Given the description of an element on the screen output the (x, y) to click on. 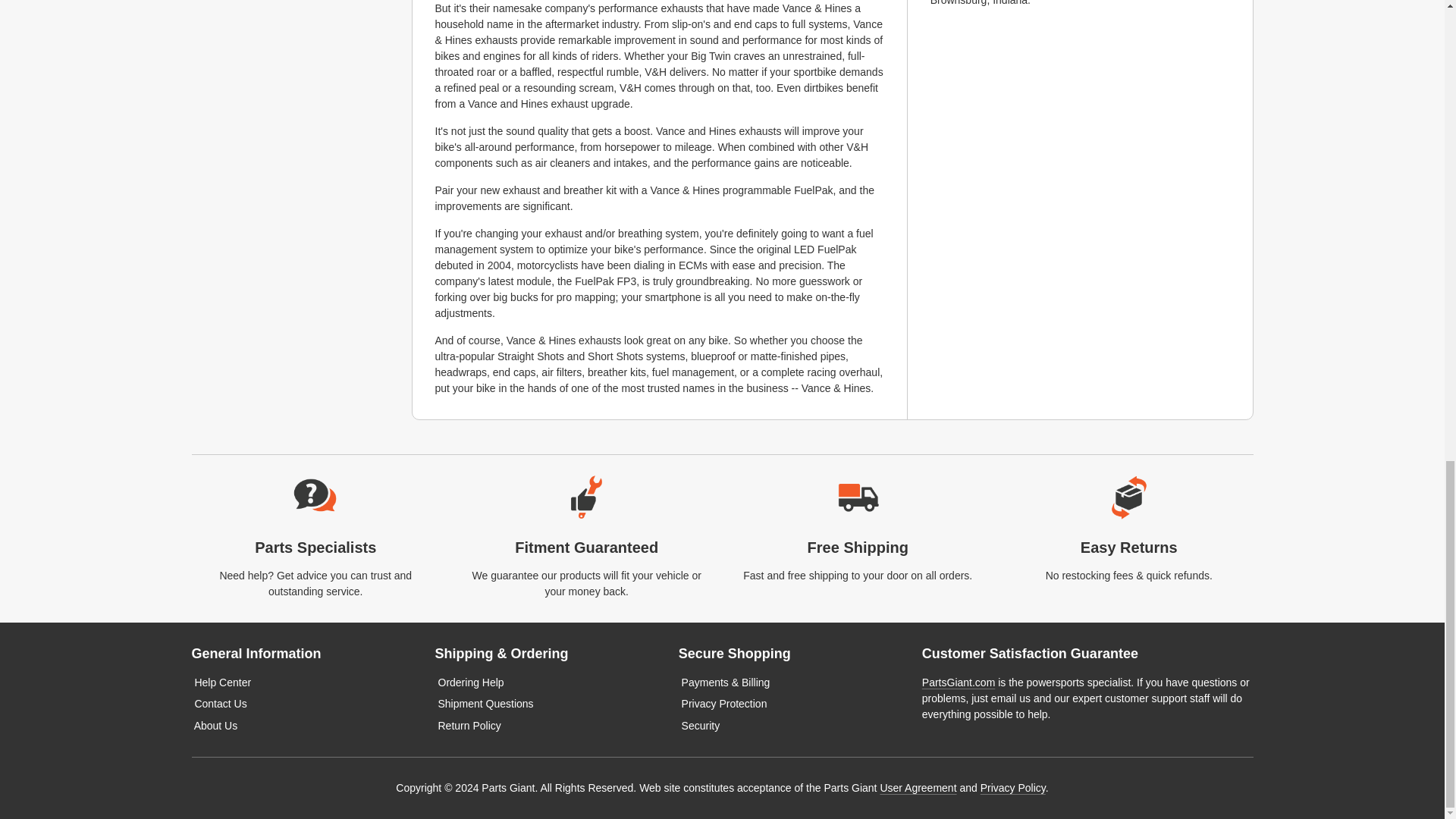
About Us (215, 725)
Contact Us (219, 703)
Shipment Questions (486, 703)
Ordering Help (470, 682)
Help Center (221, 682)
